Given the description of an element on the screen output the (x, y) to click on. 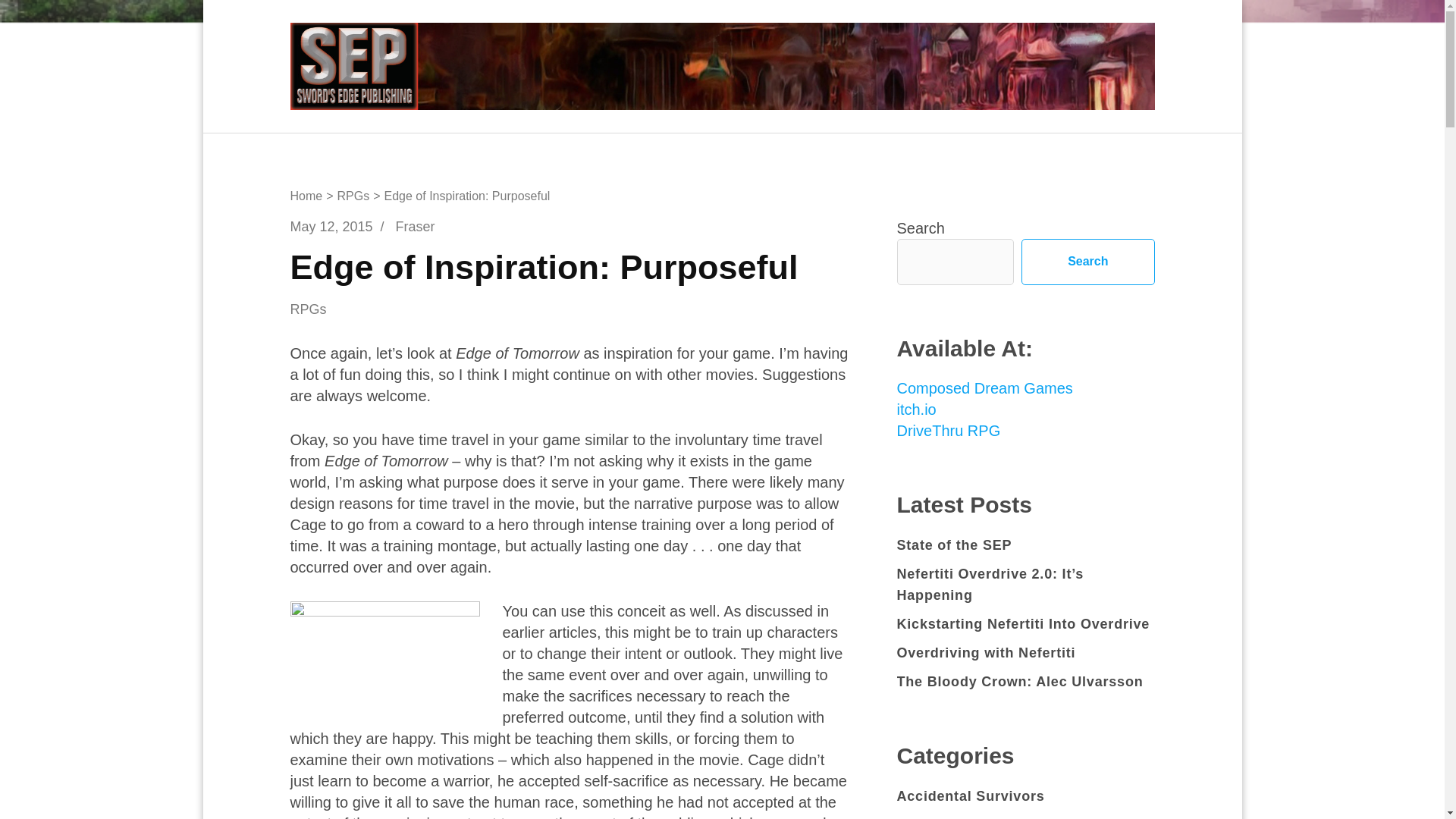
Fraser (415, 226)
RPGs (353, 195)
May 12, 2015 (330, 226)
RPGs (319, 310)
Home (305, 195)
